Given the description of an element on the screen output the (x, y) to click on. 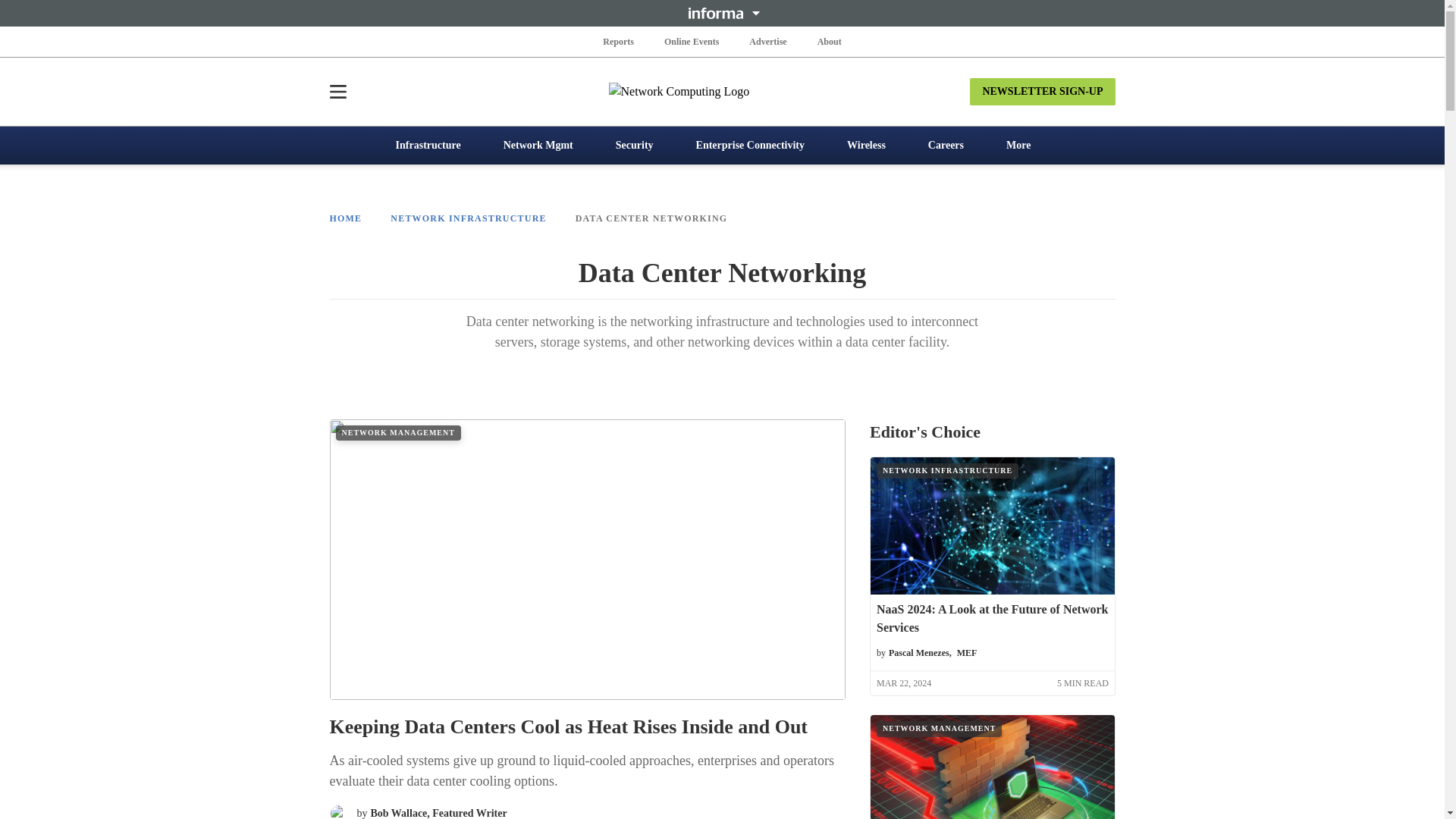
Network Computing Logo (721, 91)
Online Events (691, 41)
About (828, 41)
Reports (618, 41)
Advertise (767, 41)
Picture of Bob Wallace, Featured Writer (338, 811)
NEWSLETTER SIGN-UP (1042, 90)
